Given the description of an element on the screen output the (x, y) to click on. 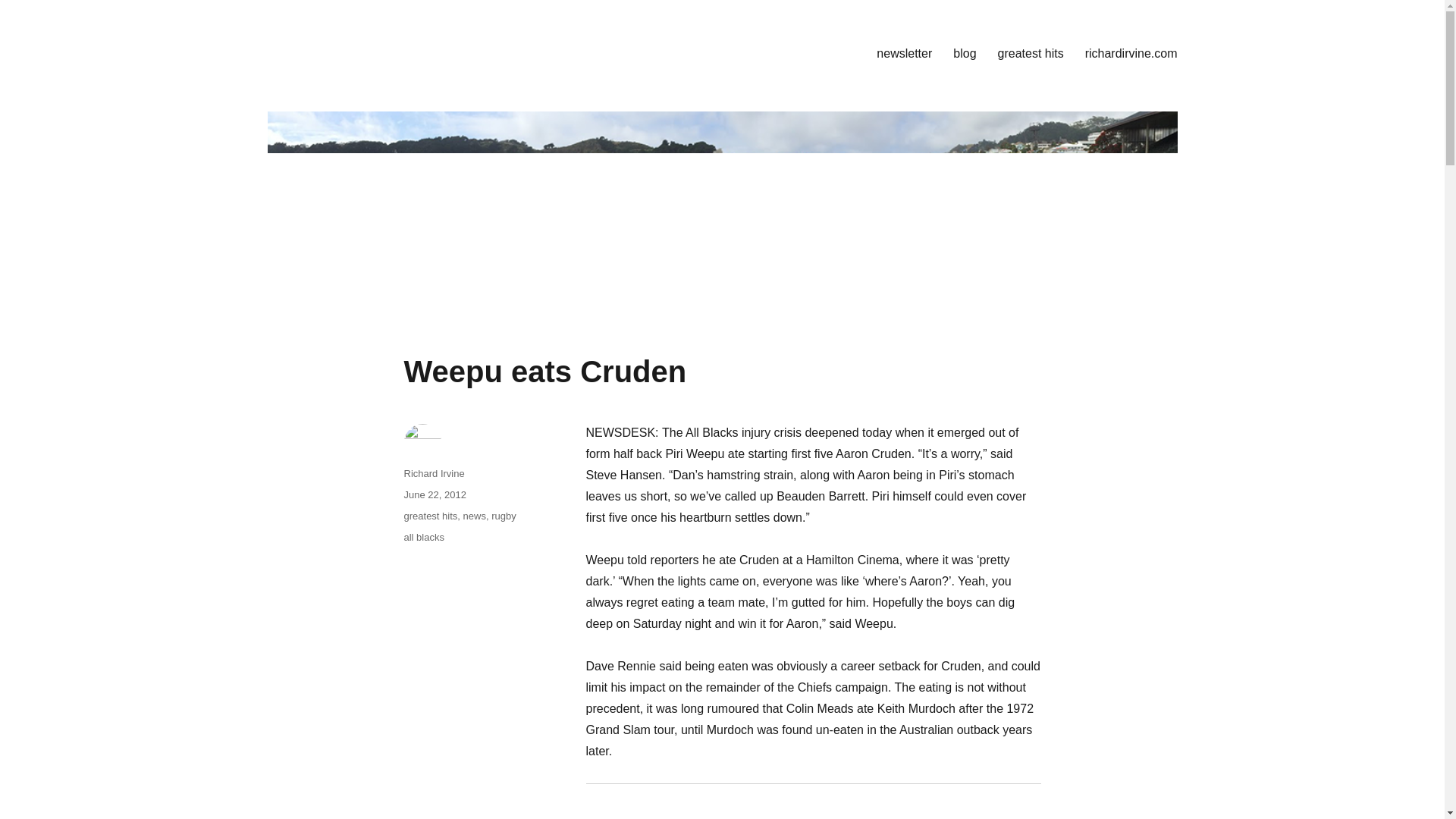
rugby (504, 515)
sportreview.net.nz (359, 50)
news (474, 515)
newsletter (904, 52)
all blacks (423, 536)
June 22, 2012 (434, 494)
greatest hits (1030, 52)
richardirvine.com (1131, 52)
greatest hits (430, 515)
Richard Irvine (433, 473)
